Given the description of an element on the screen output the (x, y) to click on. 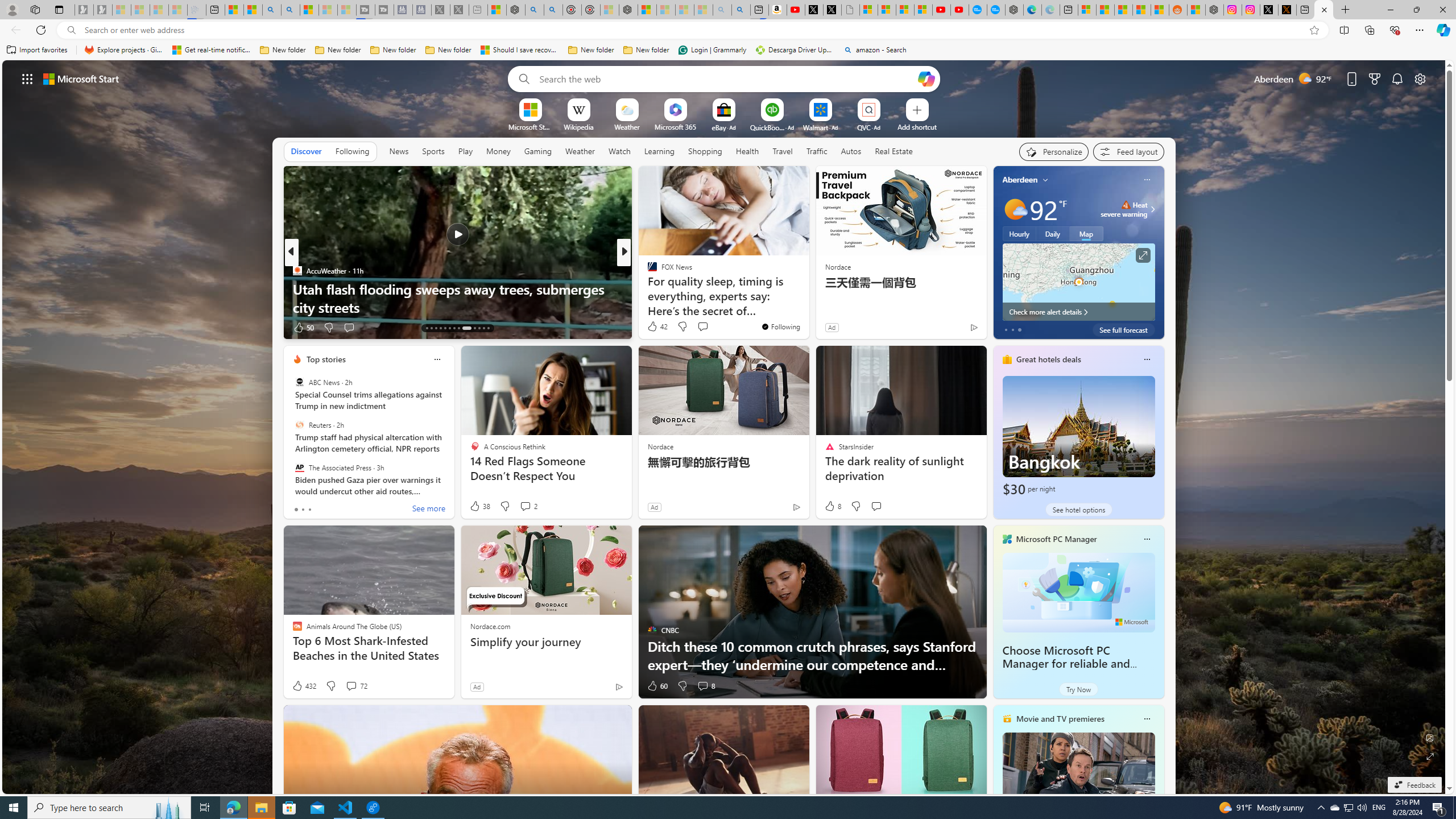
View comments 72 Comment (350, 685)
Nordace.com (490, 625)
Learning (659, 151)
YouTube Kids - An App Created for Kids to Explore Content (960, 9)
New folder (646, 49)
50 Like (303, 327)
Great hotels deals (1048, 359)
Microsoft 365 (675, 126)
Streaming Coverage | T3 - Sleeping (365, 9)
You're following FOX News (780, 326)
Map (1085, 233)
Traffic (816, 151)
